Given the description of an element on the screen output the (x, y) to click on. 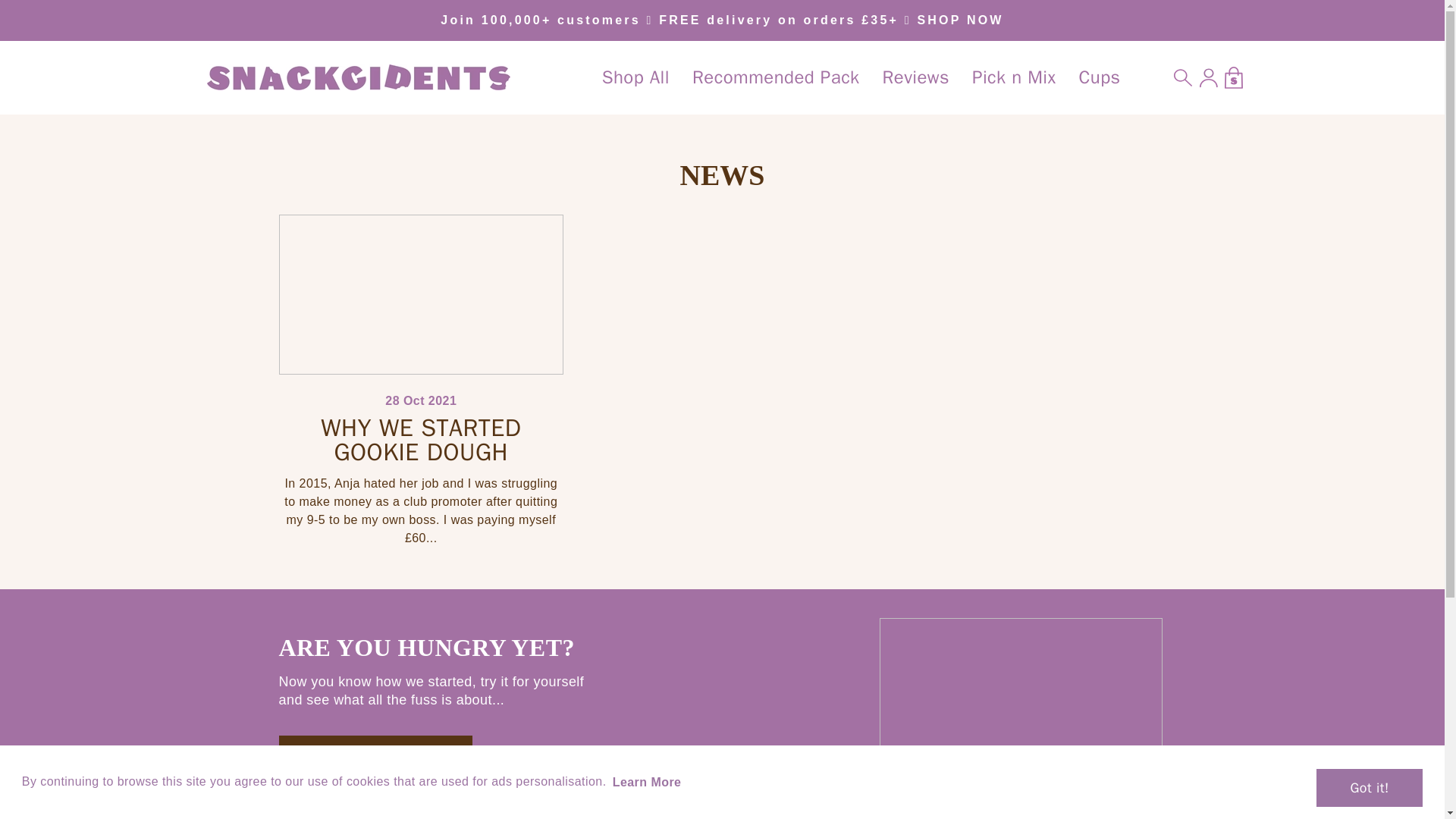
Reviews (915, 77)
Cups (1099, 77)
Pick n Mix (1013, 77)
Shop All (636, 77)
Got it! (1369, 787)
Shop Snackcidents (375, 758)
Recommended Pack (775, 77)
Learn More (646, 781)
